Given the description of an element on the screen output the (x, y) to click on. 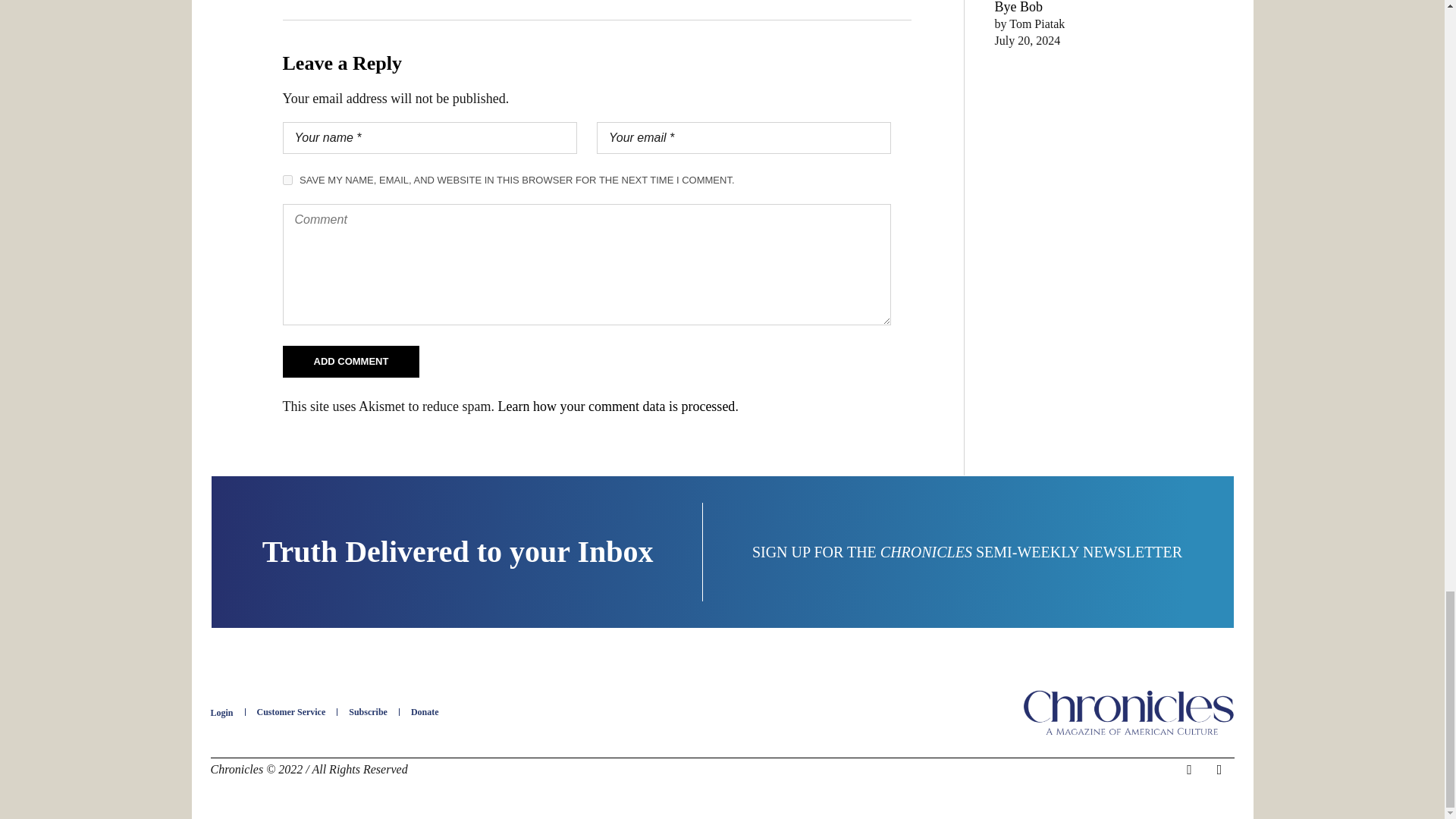
Add Comment (350, 361)
Subscribe (368, 711)
Customer Service (291, 711)
Twitter (1219, 769)
Bye Bob (1018, 7)
Add Comment (350, 361)
Donate (424, 711)
Learn how your comment data is processed (616, 406)
Login (221, 712)
Facebook (1189, 769)
yes (287, 180)
